Given the description of an element on the screen output the (x, y) to click on. 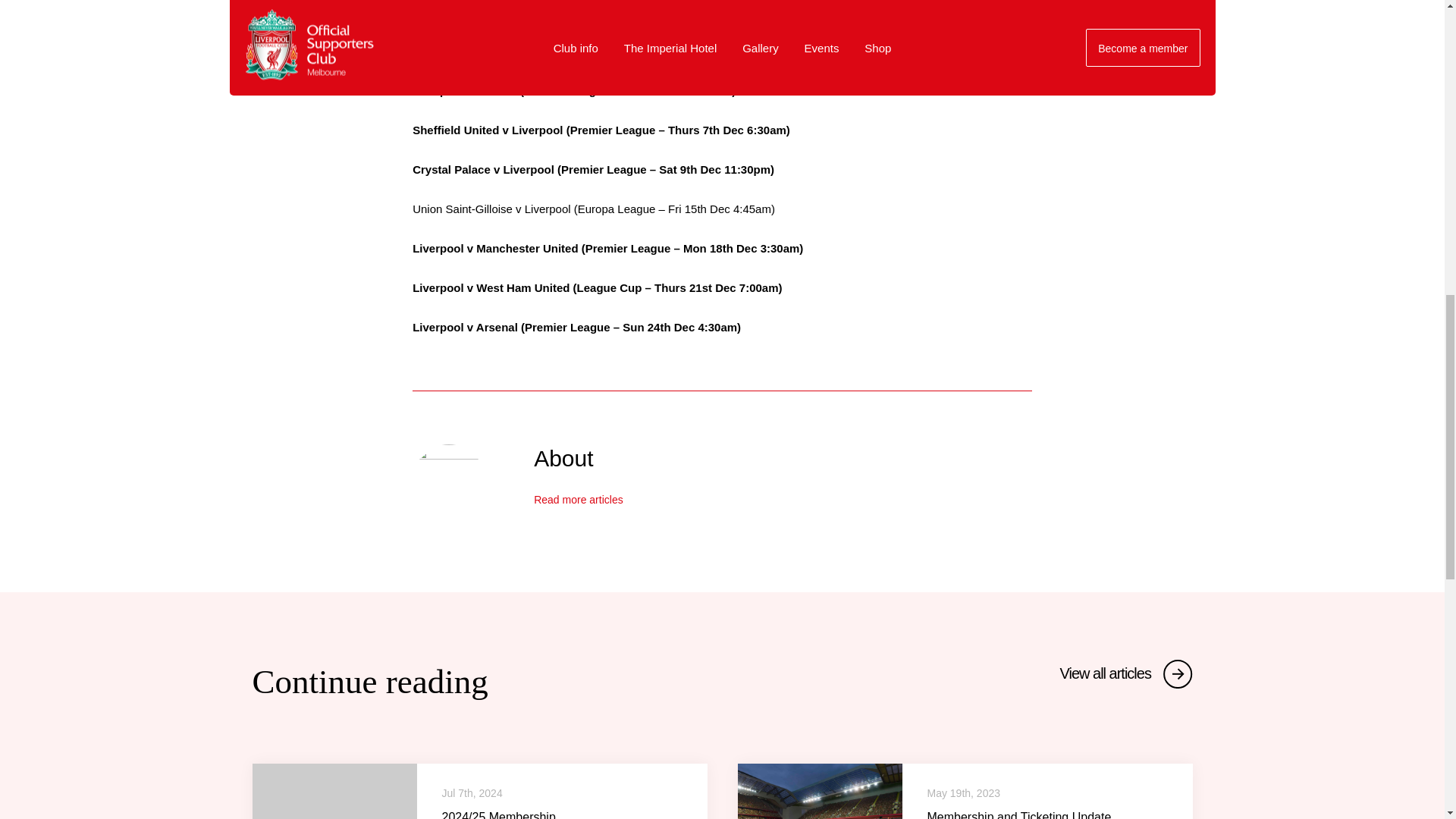
Read more articles (578, 499)
View all articles (1125, 673)
